Given the description of an element on the screen output the (x, y) to click on. 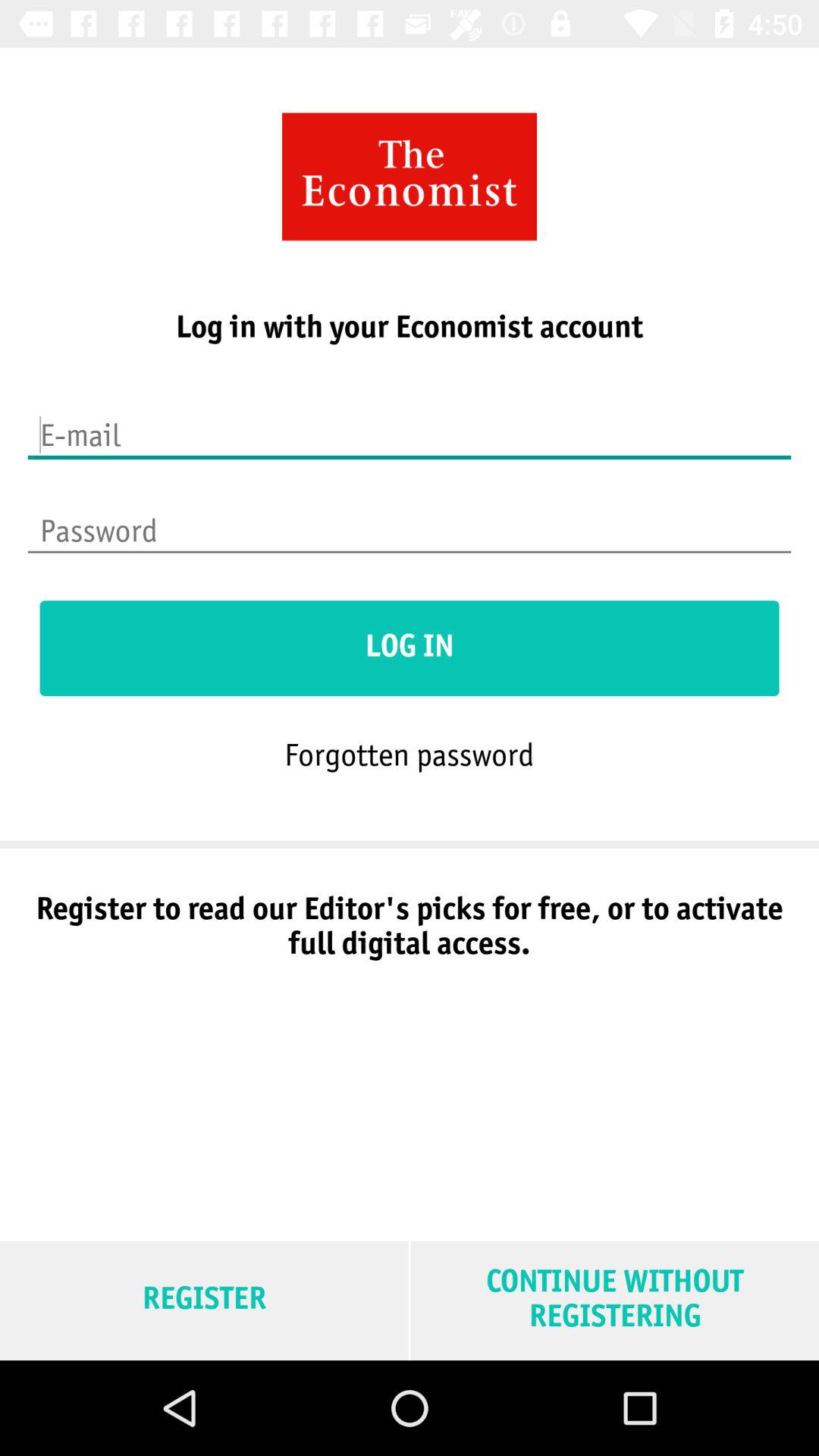
flip until the forgotten password item (409, 753)
